Given the description of an element on the screen output the (x, y) to click on. 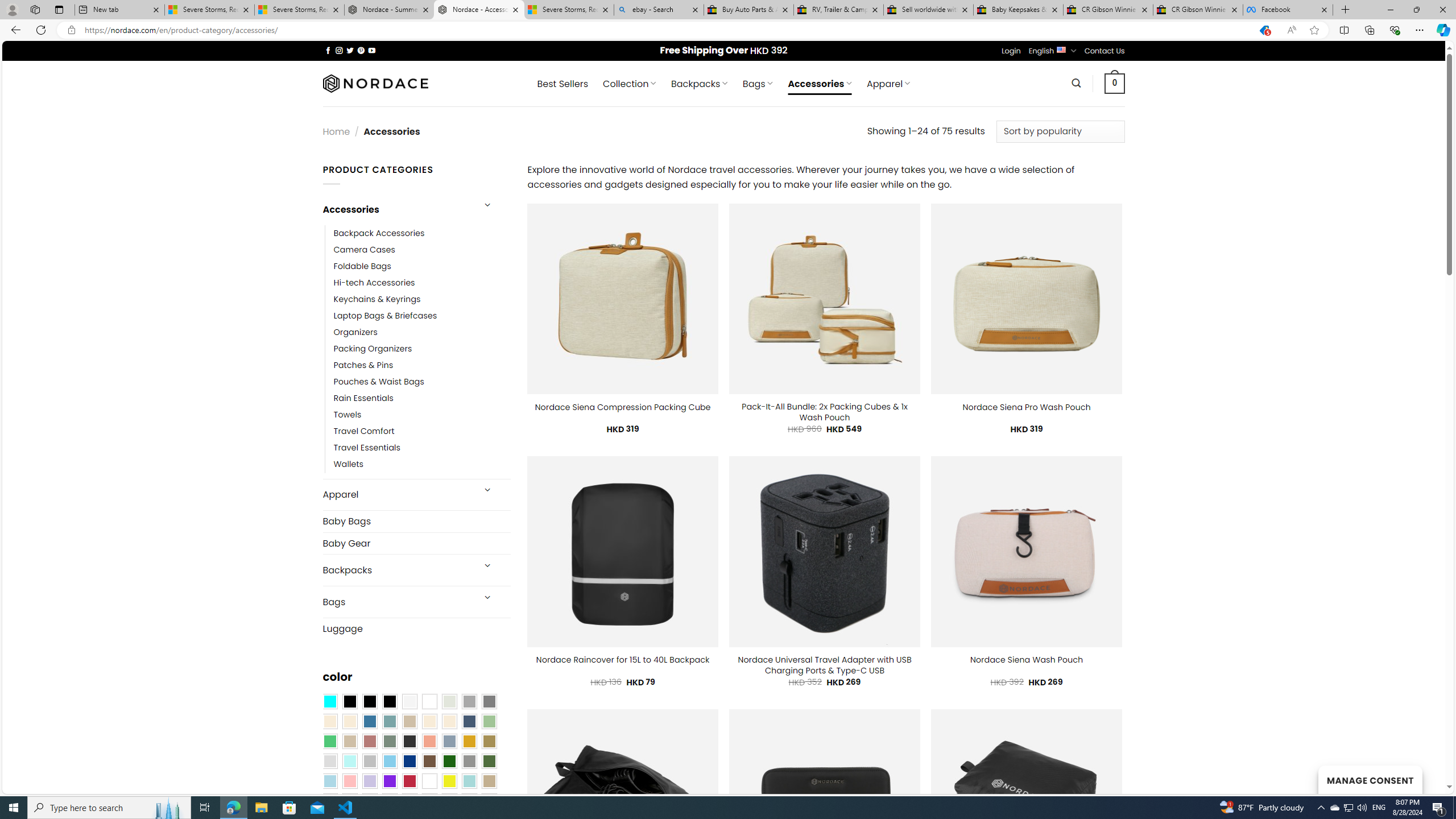
 Best Sellers (562, 83)
Home (335, 131)
Rain Essentials (363, 398)
MANAGE CONSENT (1369, 779)
Navy Blue (408, 761)
Address and search bar (664, 29)
Login (1010, 50)
Luggage (416, 627)
Camera Cases (422, 248)
Baby Gear (416, 543)
Pack-It-All Bundle: 2x Packing Cubes & 1x Wash Pouch (824, 412)
